Given the description of an element on the screen output the (x, y) to click on. 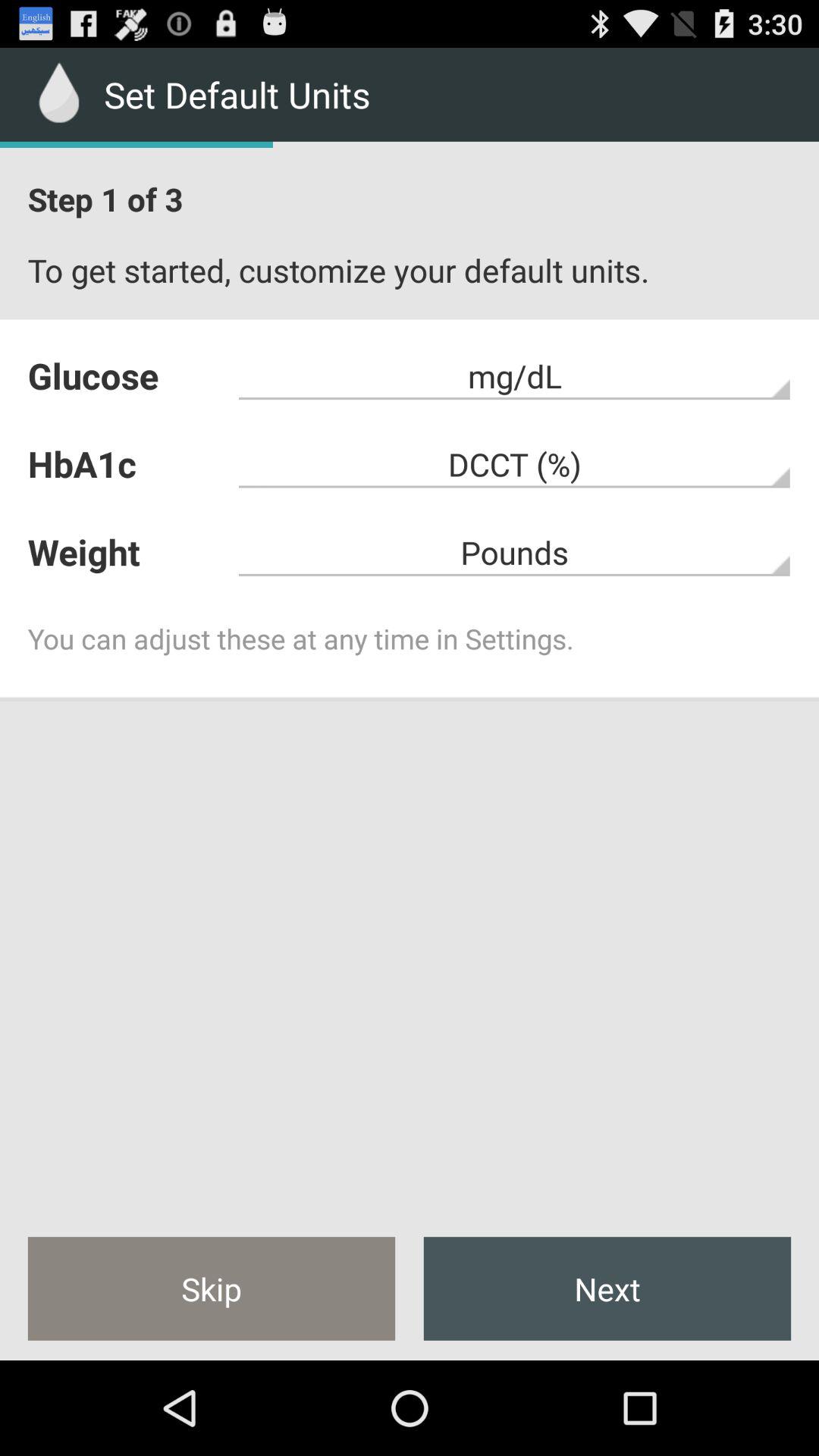
select icon to the left of next (211, 1288)
